Given the description of an element on the screen output the (x, y) to click on. 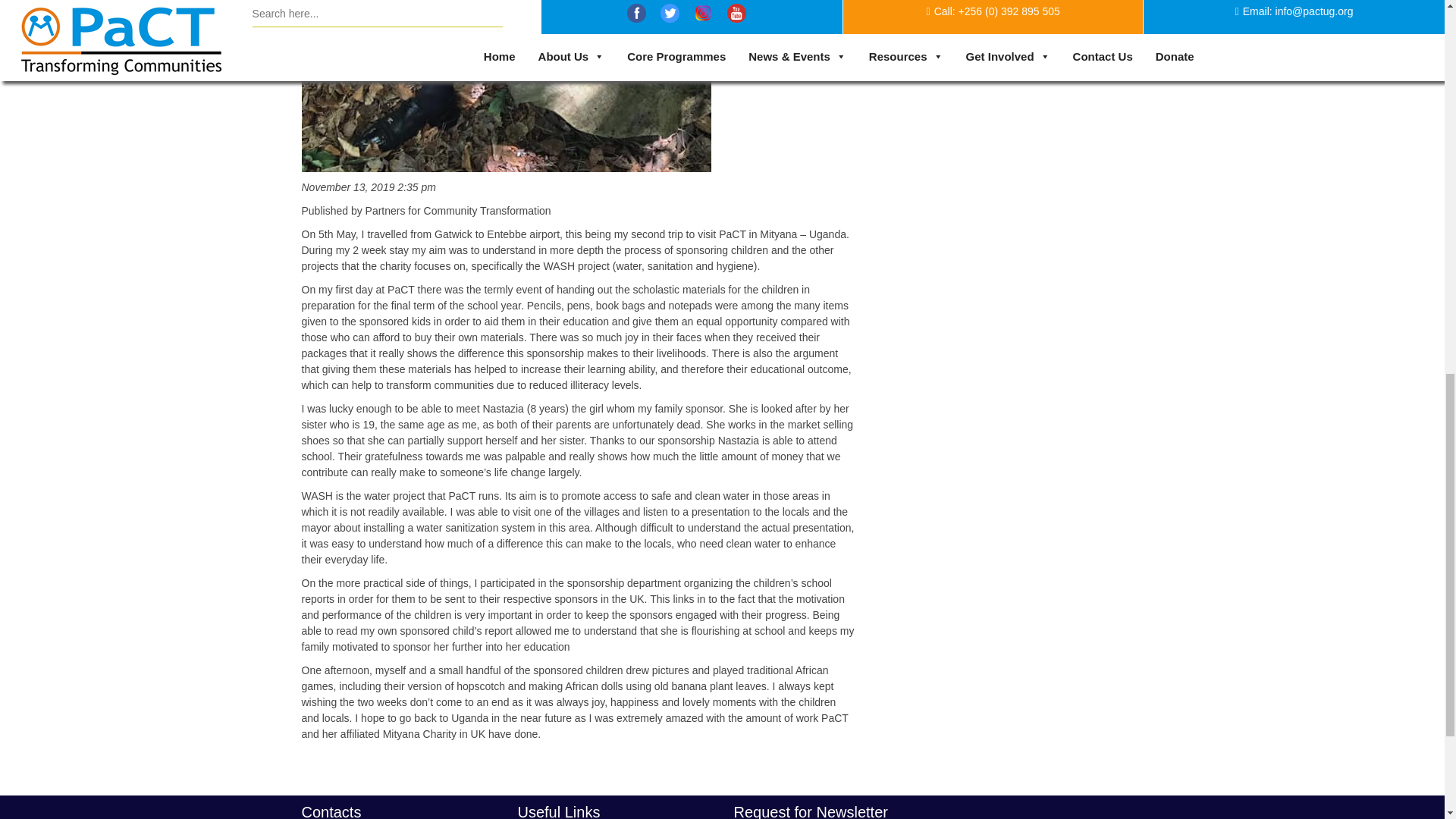
The lucky one! (506, 163)
